Given the description of an element on the screen output the (x, y) to click on. 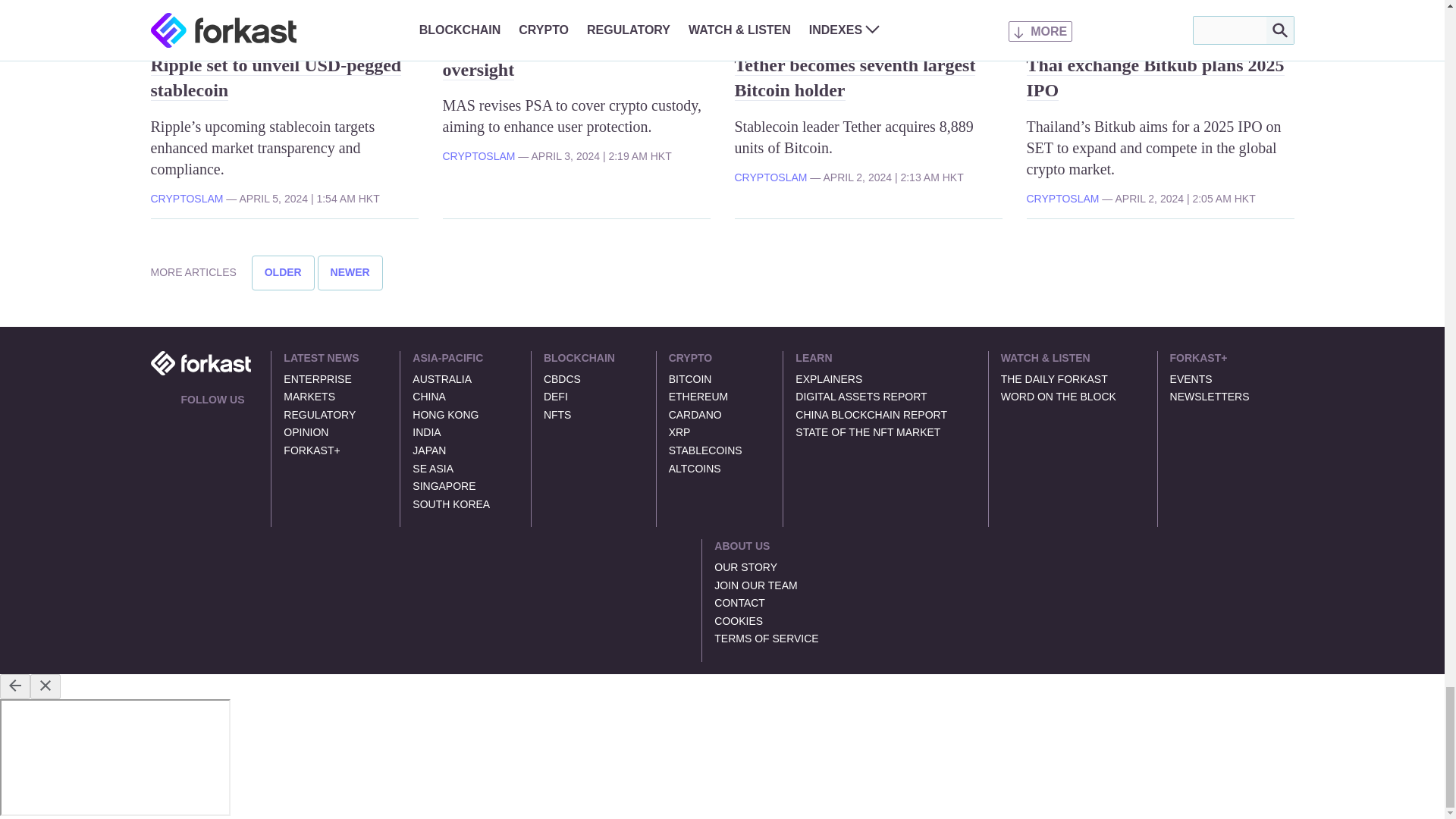
Forkast's profile on Instagram (240, 419)
Forkast's profile on Twitter (186, 419)
Forkast's profile on Facebook (222, 419)
Forkast's profile on LinkedIn (204, 419)
